Given the description of an element on the screen output the (x, y) to click on. 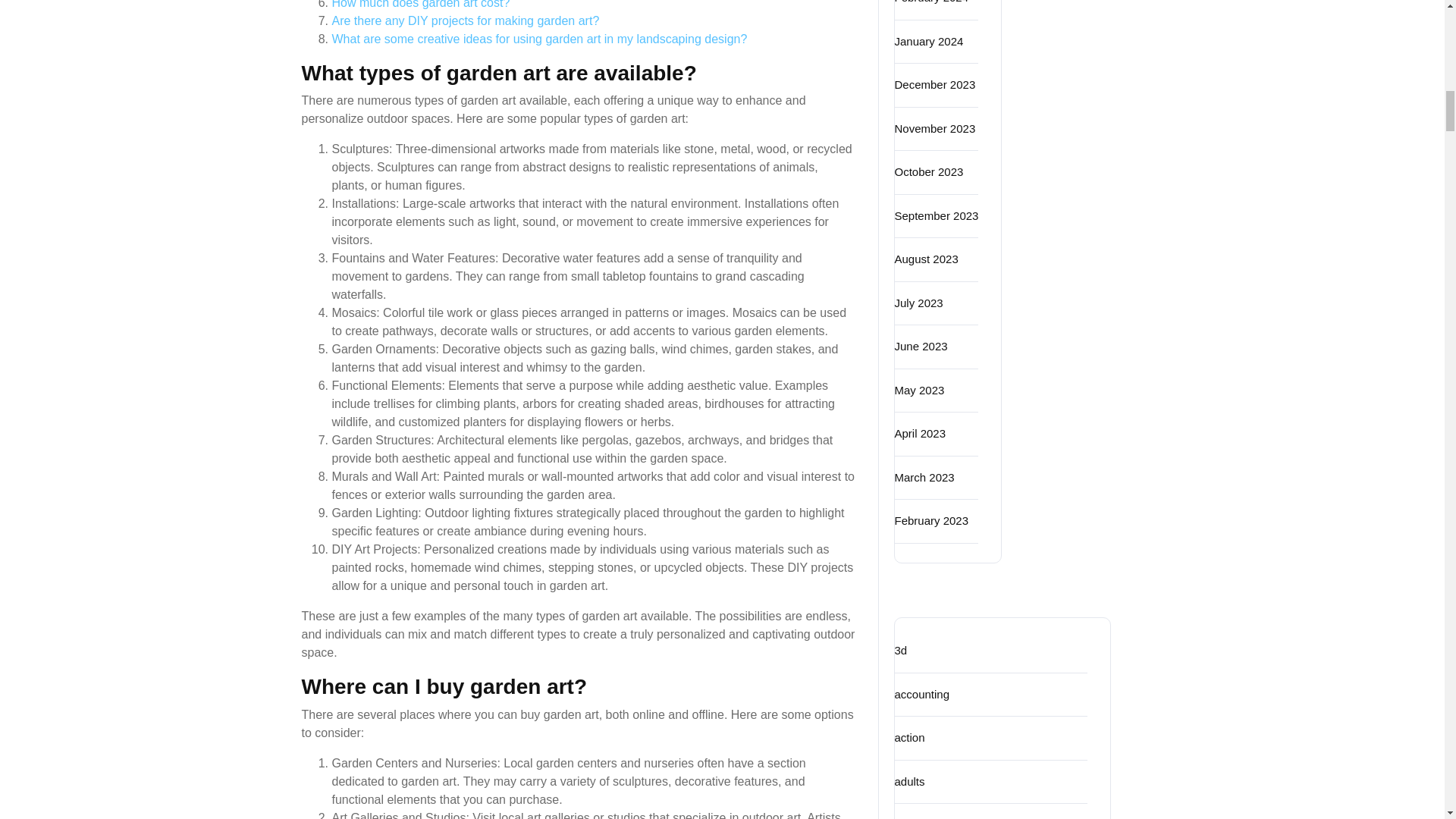
Are there any DIY projects for making garden art? (465, 20)
How much does garden art cost? (421, 4)
